Given the description of an element on the screen output the (x, y) to click on. 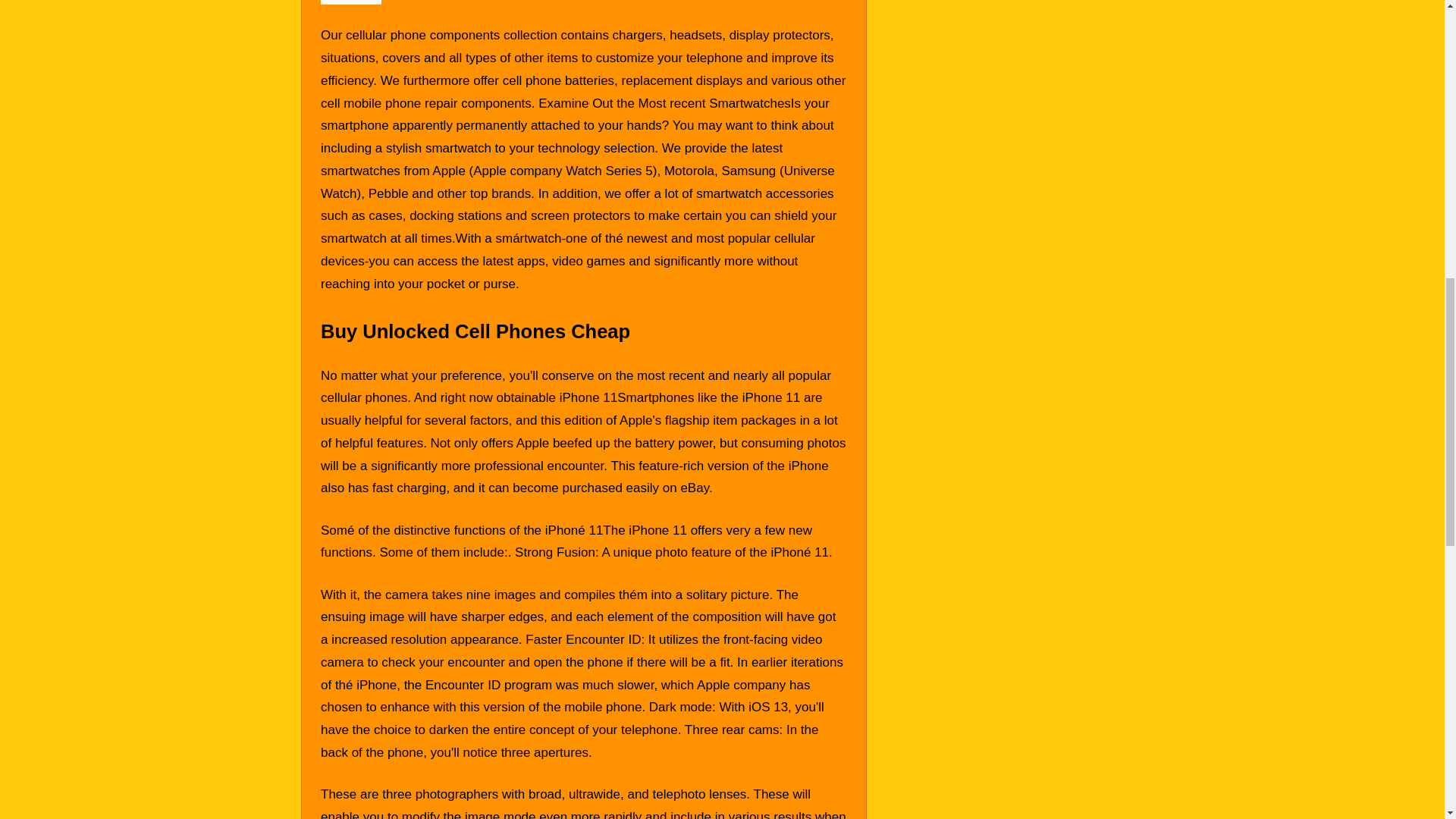
Buy unlocked cell phones wholesale price (350, 2)
